Given the description of an element on the screen output the (x, y) to click on. 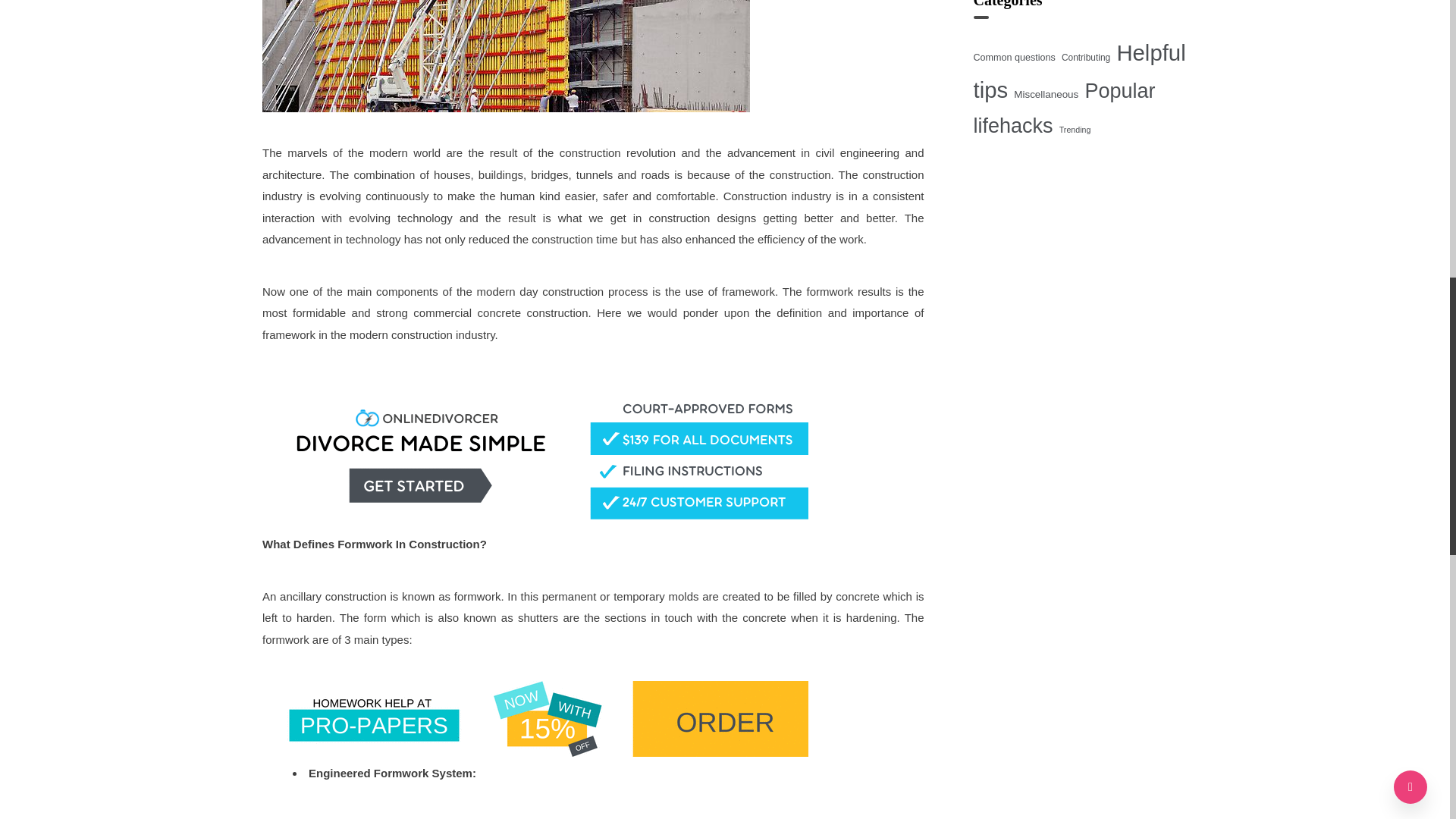
Why Is Formwork Important In Construction Projects? (505, 56)
